Given the description of an element on the screen output the (x, y) to click on. 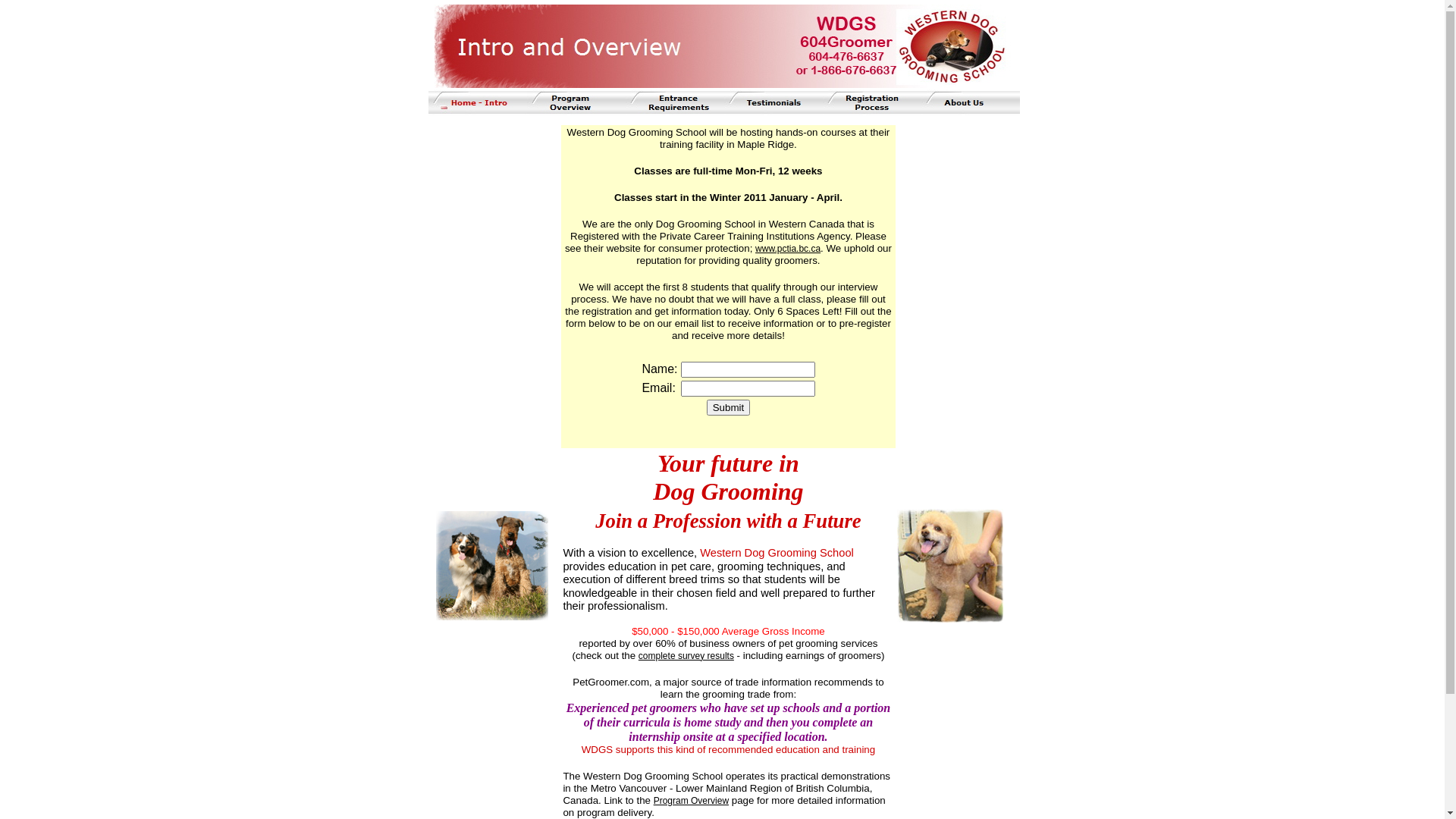
Program
Overview Element type: hover (575, 102)
Intro and Overview Element type: hover (721, 45)
complete survey results Element type: text (686, 655)
Program Overview Element type: text (690, 800)
Testimonials Element type: hover (772, 102)
Submit Element type: text (727, 407)
Entrance
Requirements Element type: hover (673, 102)
Registration
Process Element type: hover (871, 102)
About Us Element type: hover (969, 102)
www.pctia.bc.ca Element type: text (787, 248)
Western_Dogs_148 Element type: hover (491, 565)
Home - Intro Element type: hover (476, 102)
Poodle_grooming_140W Element type: hover (949, 565)
